Given the description of an element on the screen output the (x, y) to click on. 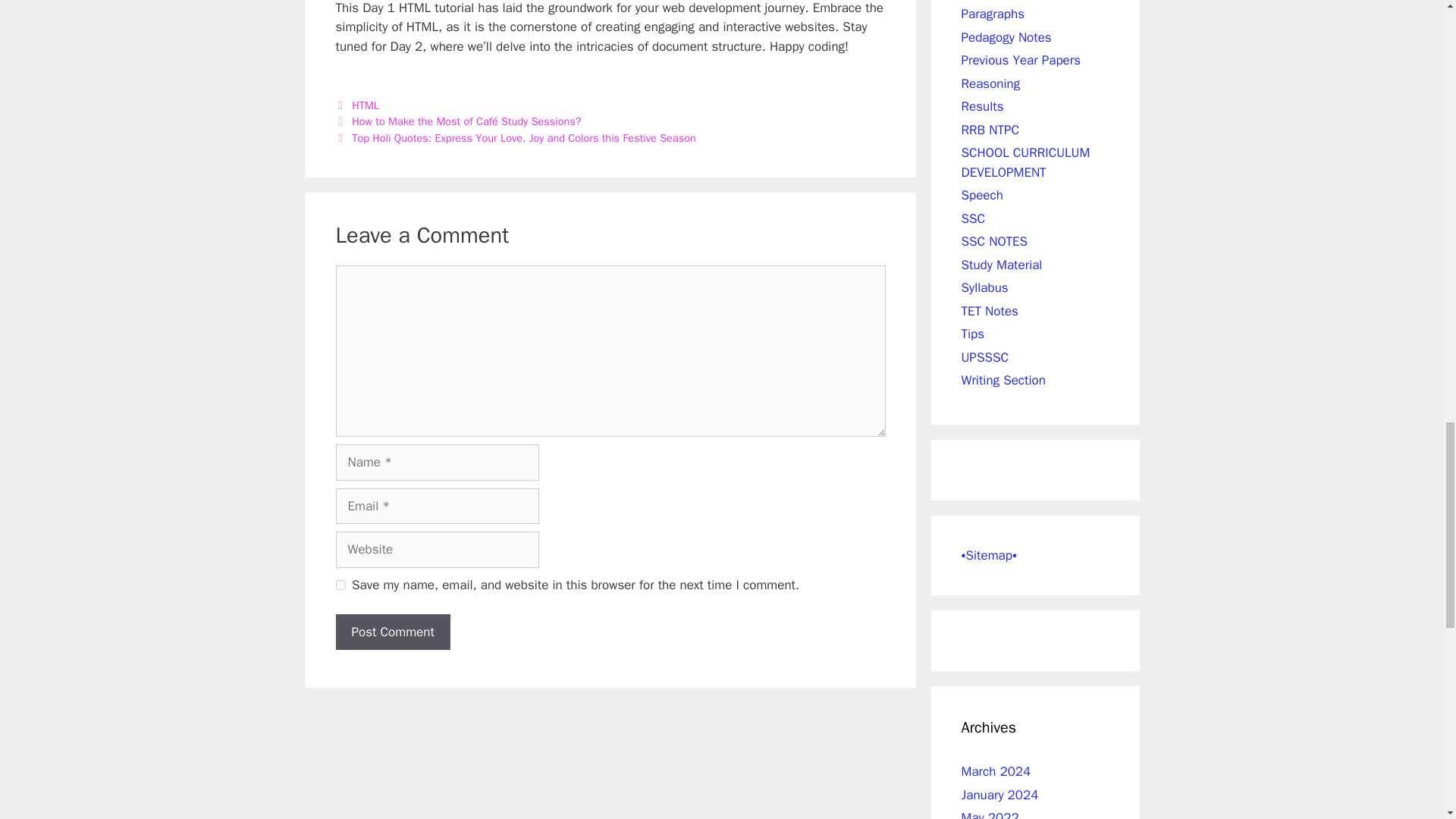
Post Comment (391, 632)
Post Comment (391, 632)
HTML (365, 105)
yes (339, 584)
